Given the description of an element on the screen output the (x, y) to click on. 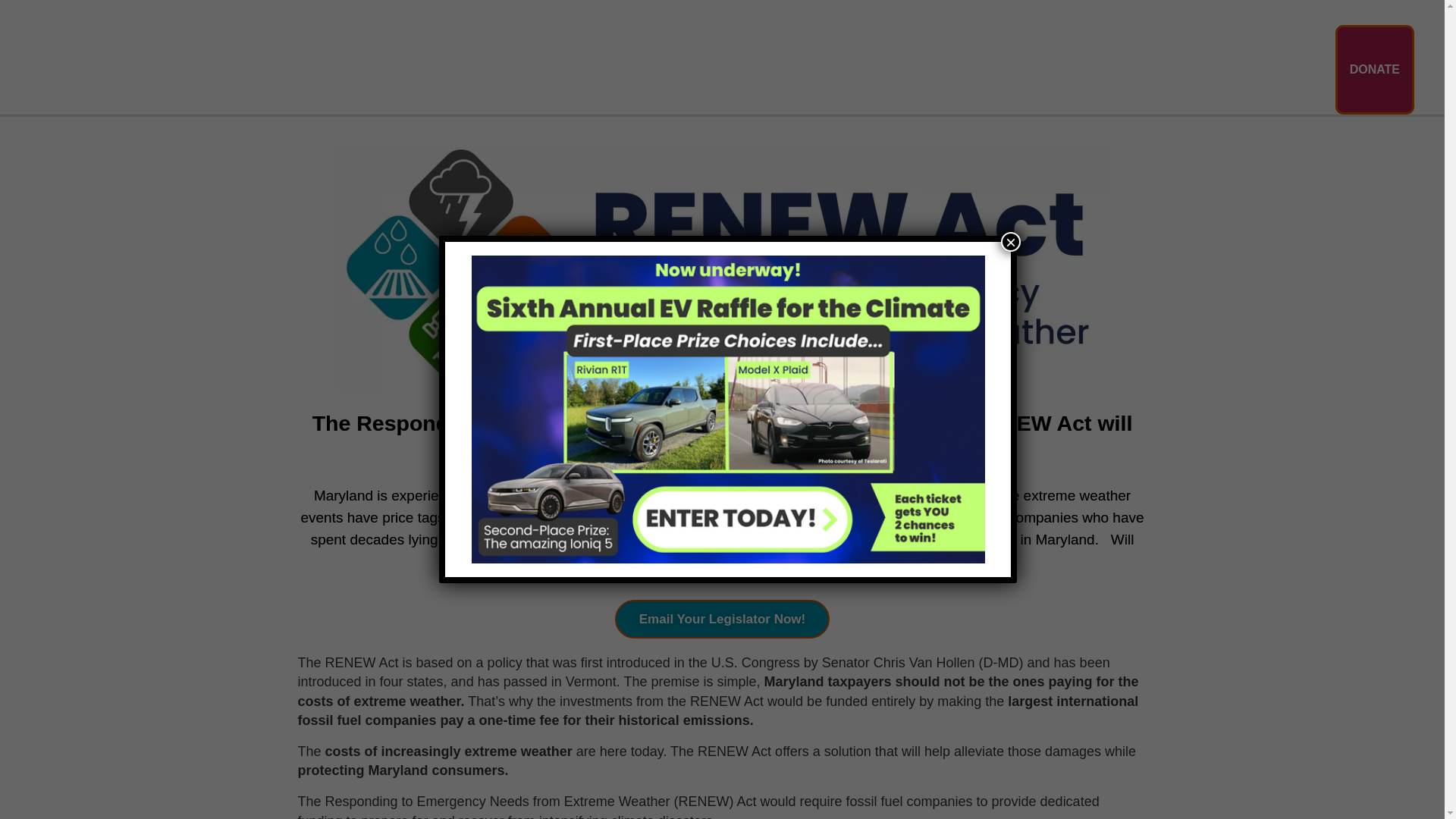
DONATE (1374, 69)
CAMPAIGNS (1001, 69)
Email Your Legislator Now! (721, 618)
